Given the description of an element on the screen output the (x, y) to click on. 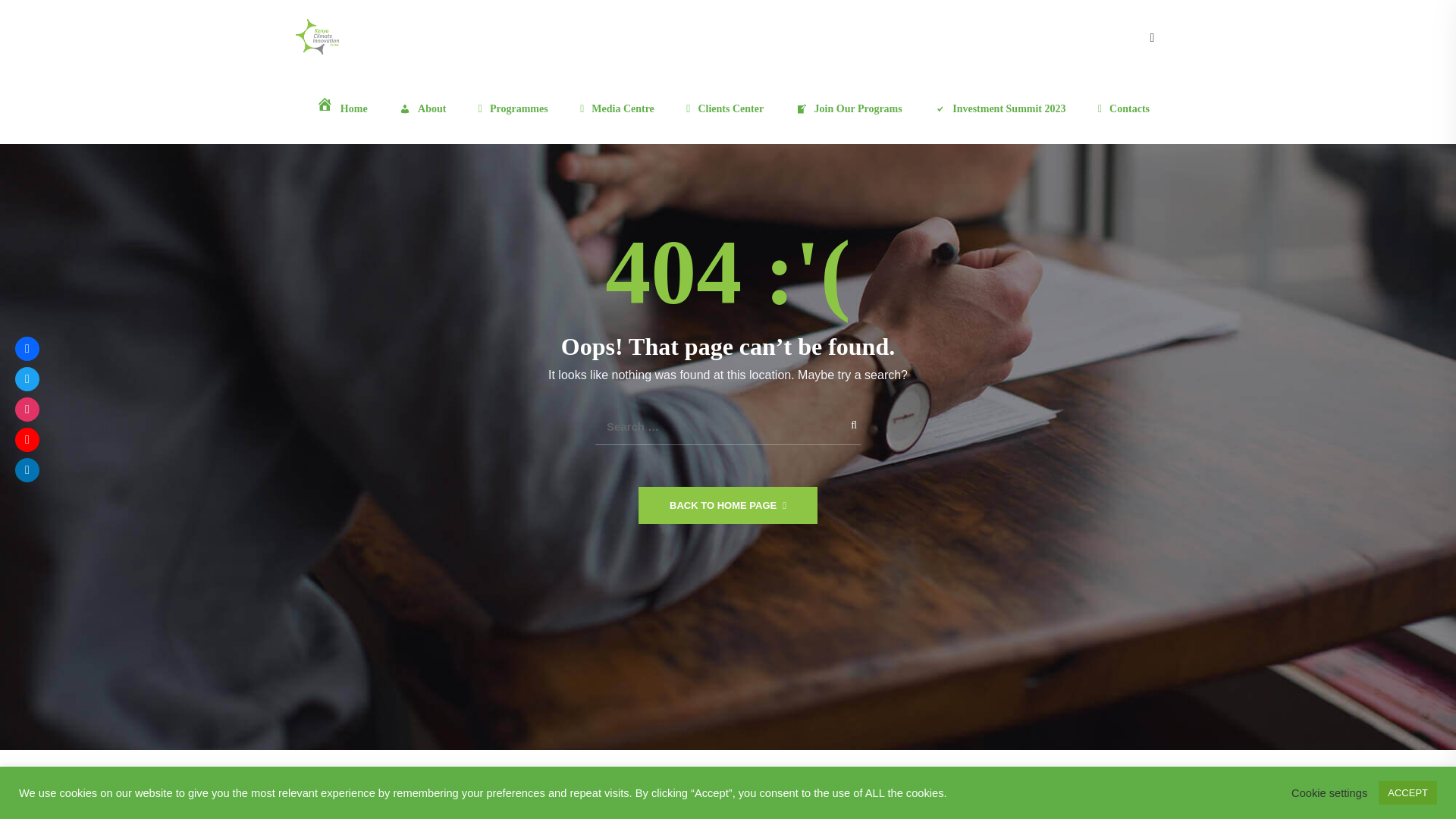
Programmes (509, 109)
Youtube (26, 439)
Linkedln (26, 469)
Search (842, 422)
Twitter (26, 378)
Media Centre (613, 109)
Search (842, 422)
Instagram (26, 409)
Facebook (26, 348)
About (419, 109)
Home (338, 108)
